Given the description of an element on the screen output the (x, y) to click on. 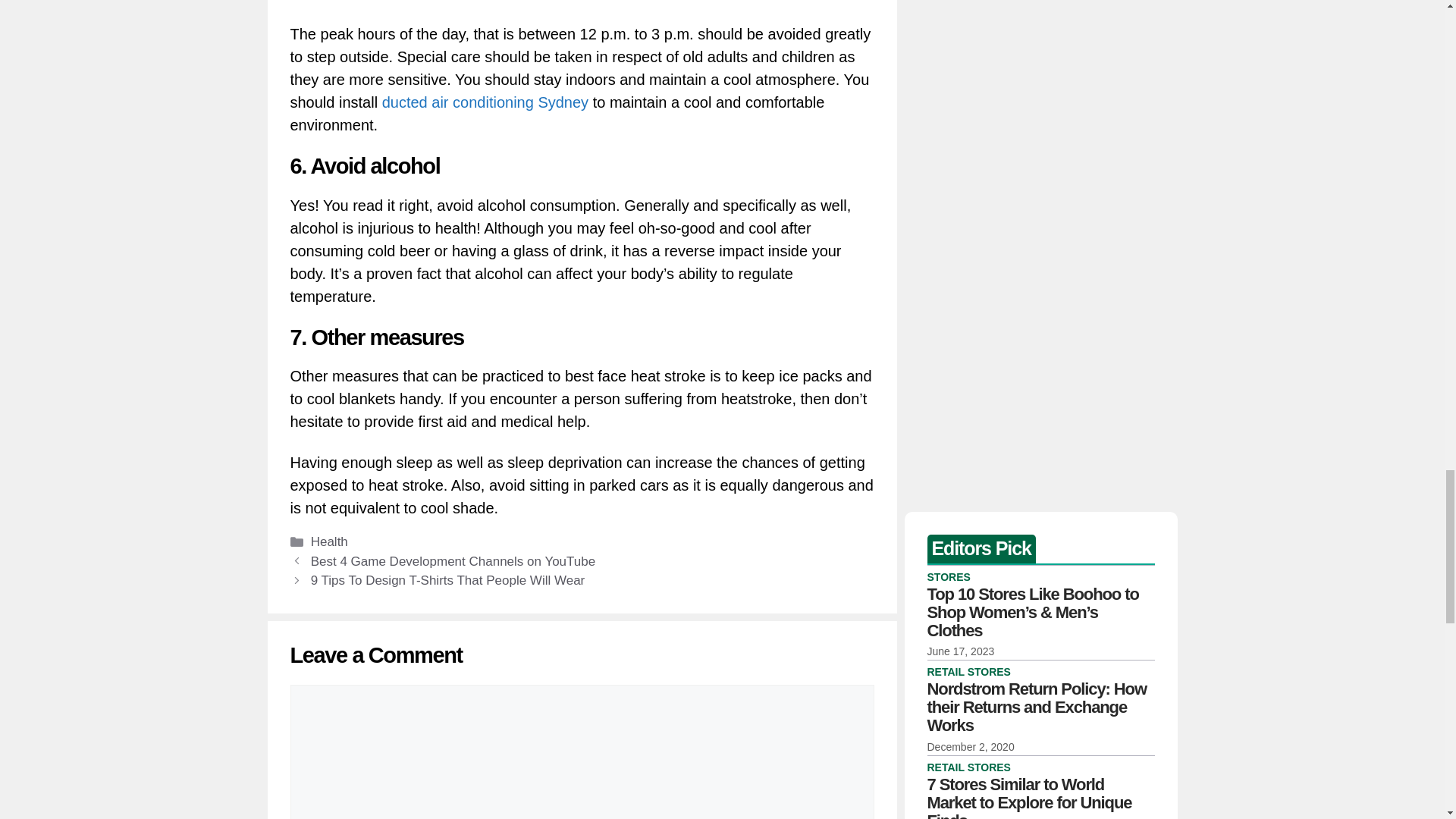
ducted air conditioning Sydney (484, 102)
9 Tips To Design T-Shirts That People Will Wear (448, 580)
Health (329, 541)
Best 4 Game Development Channels on YouTube (453, 561)
